Given the description of an element on the screen output the (x, y) to click on. 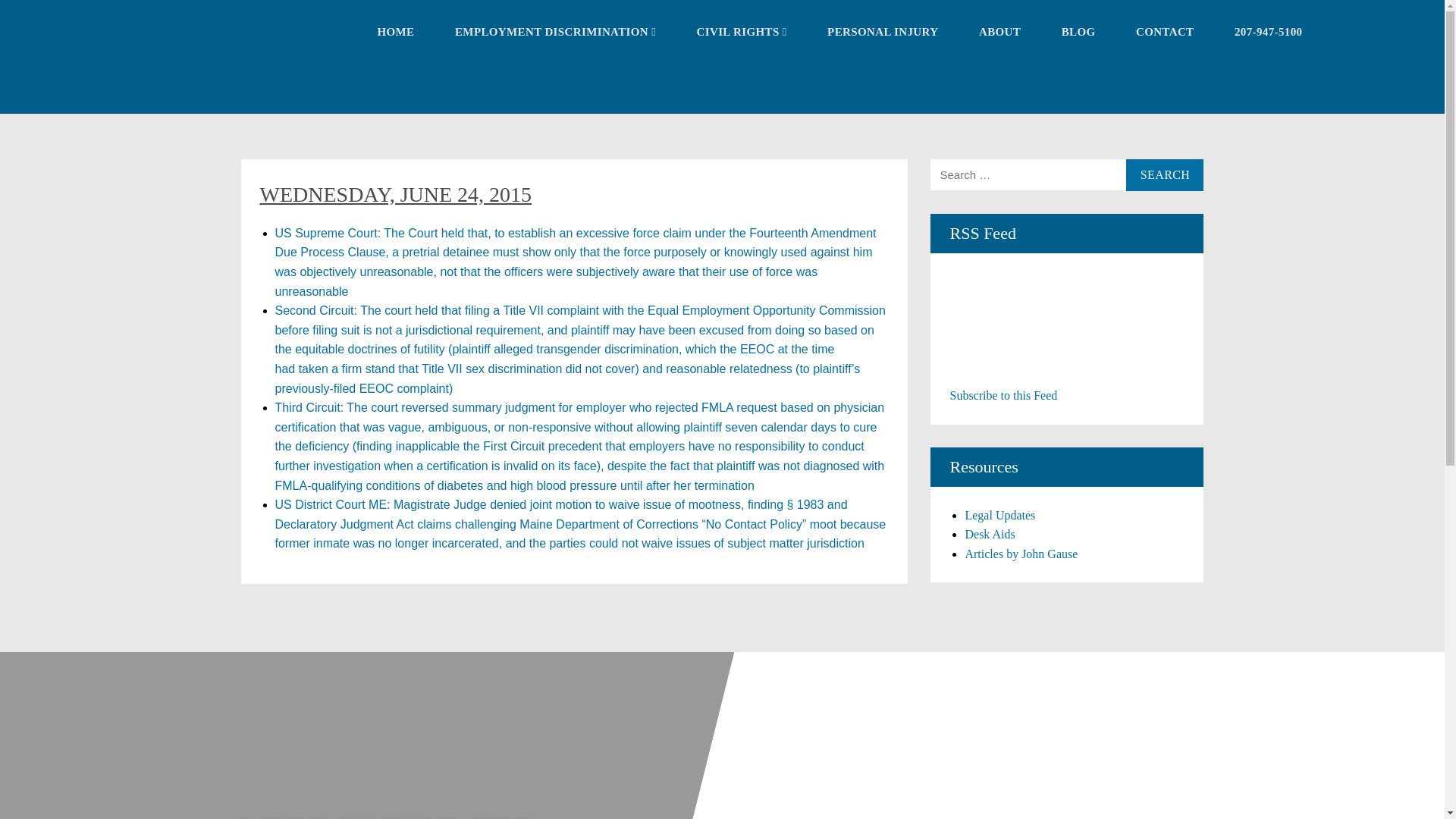
Search (1164, 174)
Search (1164, 174)
207-947-5100 (1268, 31)
EMPLOYMENT DISCRIMINATION (555, 31)
CIVIL RIGHTS (742, 31)
PERSONAL INJURY (882, 31)
CONTACT (1164, 31)
